Given the description of an element on the screen output the (x, y) to click on. 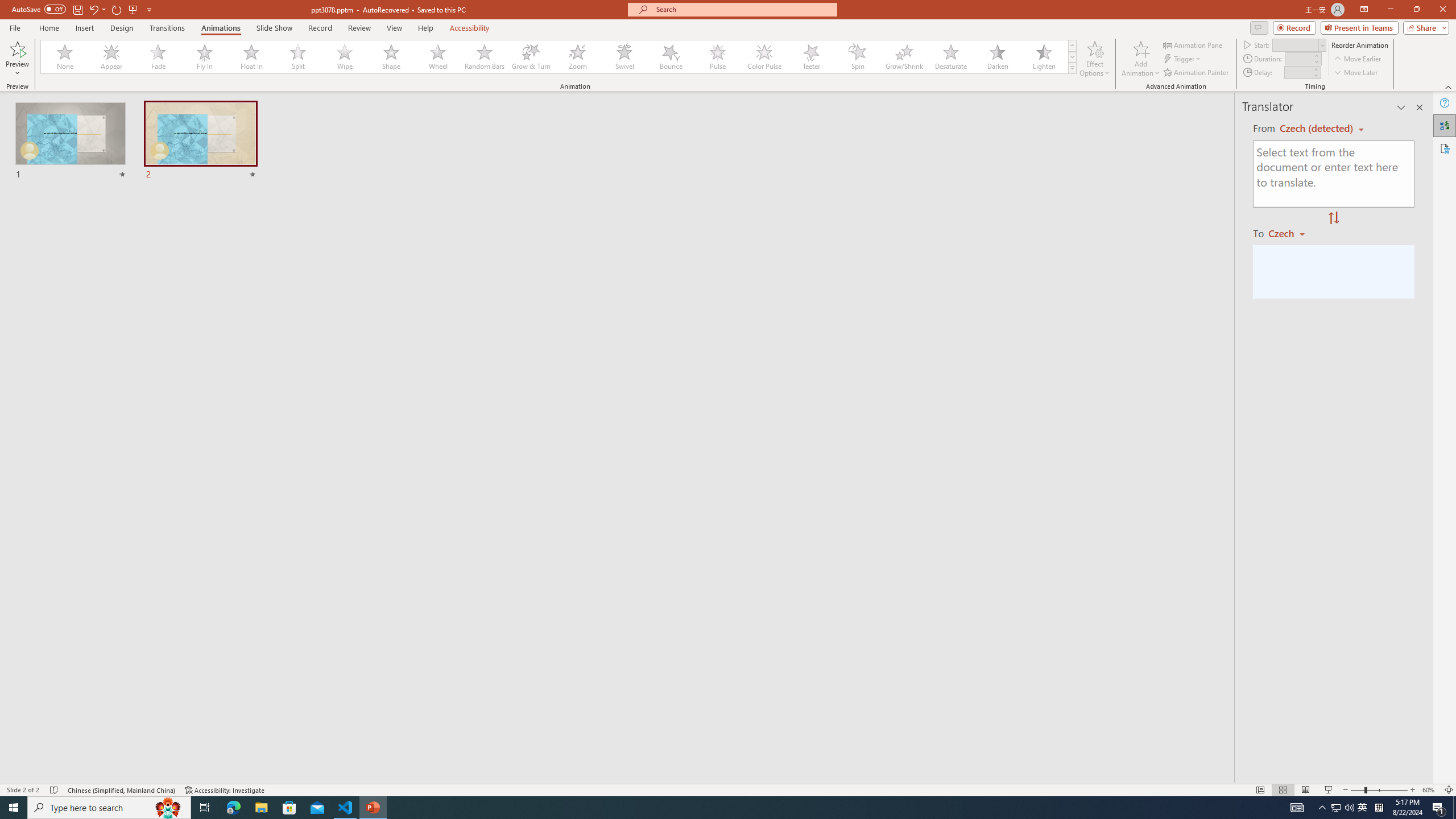
Fade (158, 56)
AutomationID: AnimationGallery (558, 56)
Zoom 60% (1430, 790)
Move Earlier (1357, 58)
